Given the description of an element on the screen output the (x, y) to click on. 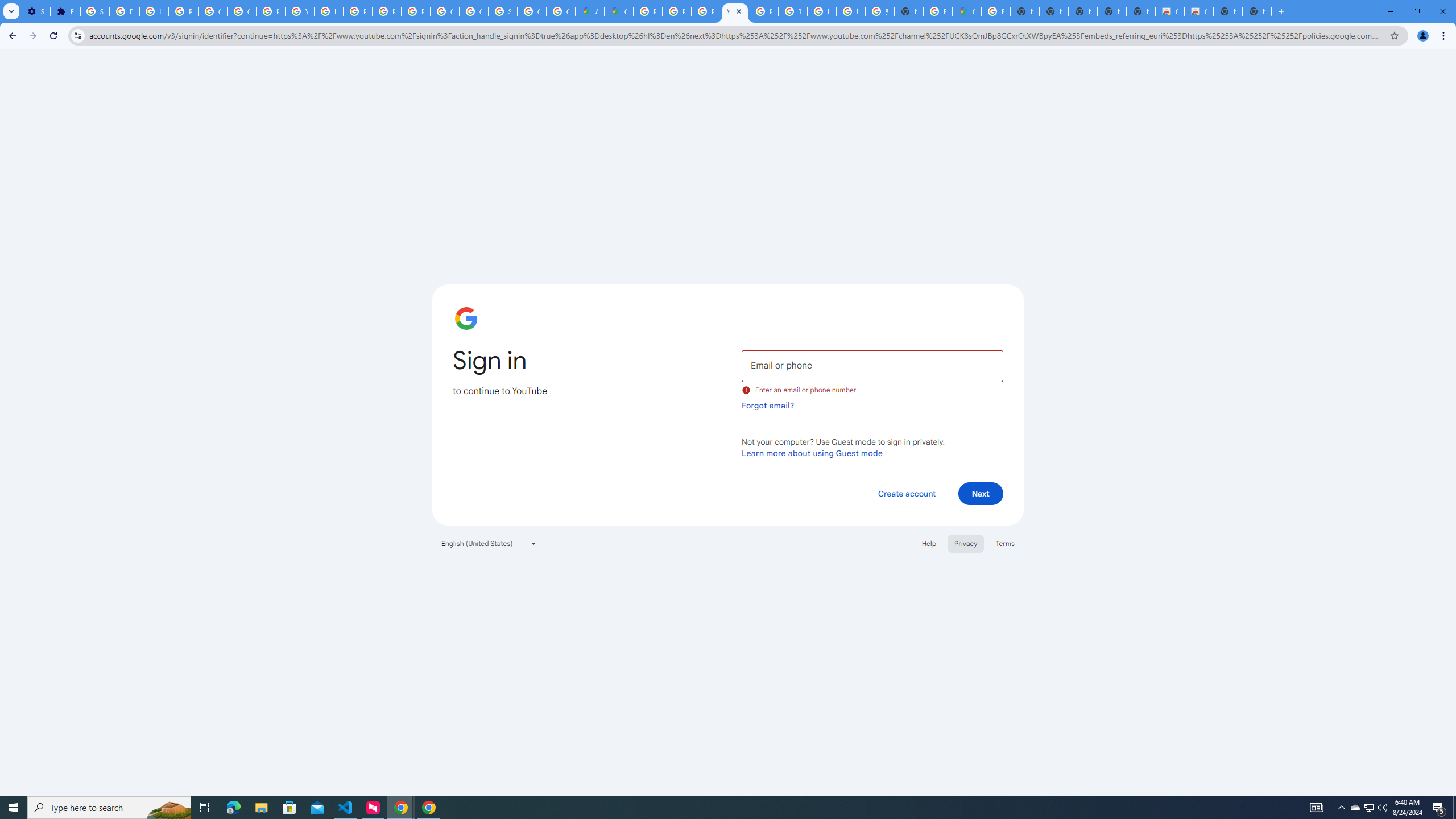
Tips & tricks for Chrome - Google Chrome Help (792, 11)
Privacy Help Center - Policies Help (357, 11)
Settings - On startup (35, 11)
Google Account Help (212, 11)
Privacy Help Center - Policies Help (677, 11)
Classic Blue - Chrome Web Store (1169, 11)
